Given the description of an element on the screen output the (x, y) to click on. 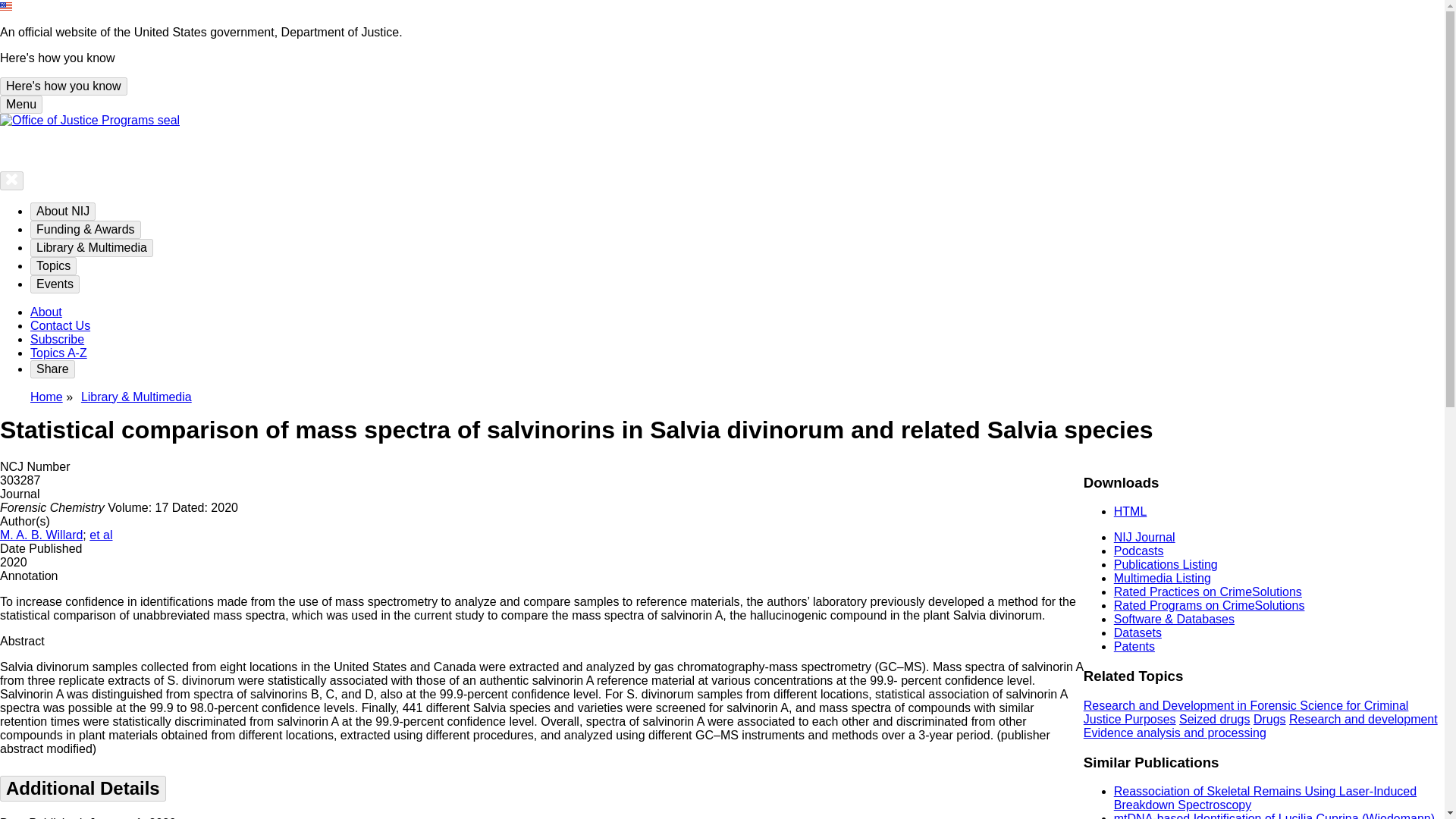
Office of Justice Programs (89, 119)
HTML (1130, 511)
Rated Practices on CrimeSolutions (1207, 591)
Contact Us (60, 325)
Share (52, 369)
HTML (1130, 511)
Publications Listing (1165, 563)
Patents (1133, 645)
Home (46, 396)
About (46, 311)
Topics (53, 266)
et al (100, 534)
M. A. B. Willard (41, 534)
Multimedia Listing (1162, 577)
